Given the description of an element on the screen output the (x, y) to click on. 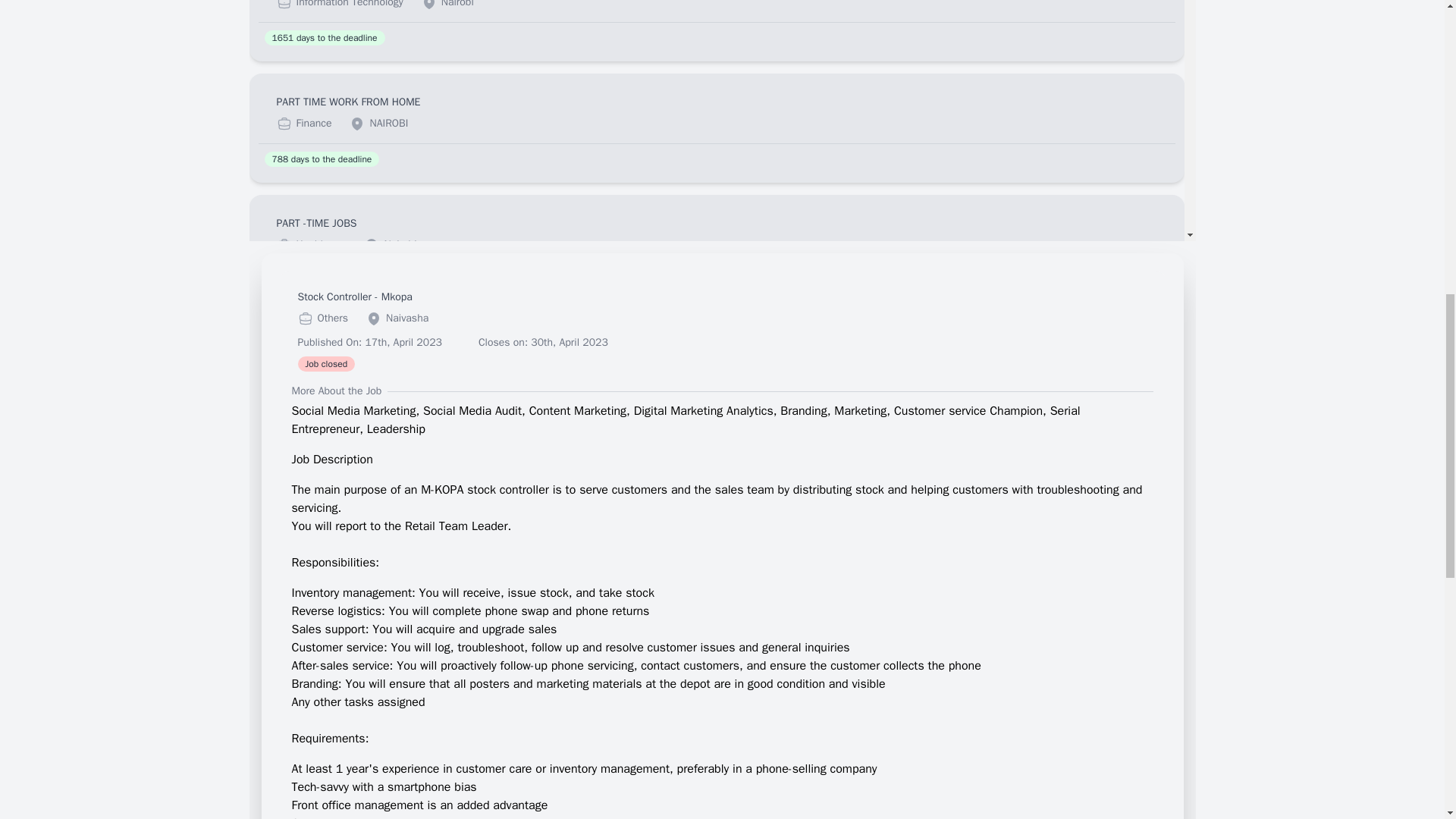
2 (904, 691)
3 (936, 691)
4 (966, 691)
5 (998, 691)
